Given the description of an element on the screen output the (x, y) to click on. 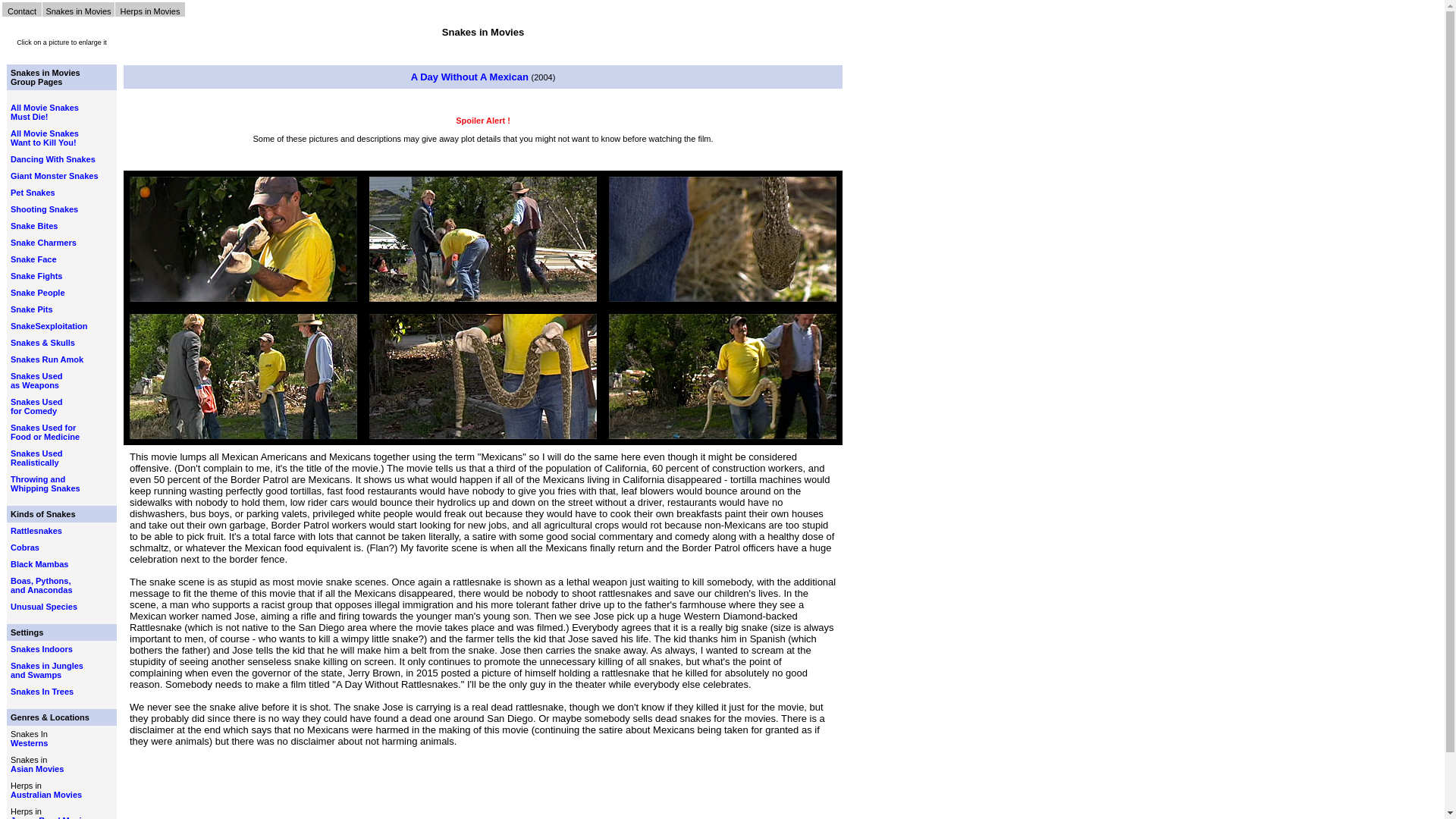
Shooting Snakes (44, 208)
Cobras (36, 406)
Snake Charmers (24, 547)
SnakeSexploitation (36, 380)
Snake Face (44, 116)
Asian Movies (36, 457)
Rattlesnakes (43, 242)
Australian Movies (45, 484)
Snake Bites (48, 325)
Pet Snakes (33, 258)
